Given the description of an element on the screen output the (x, y) to click on. 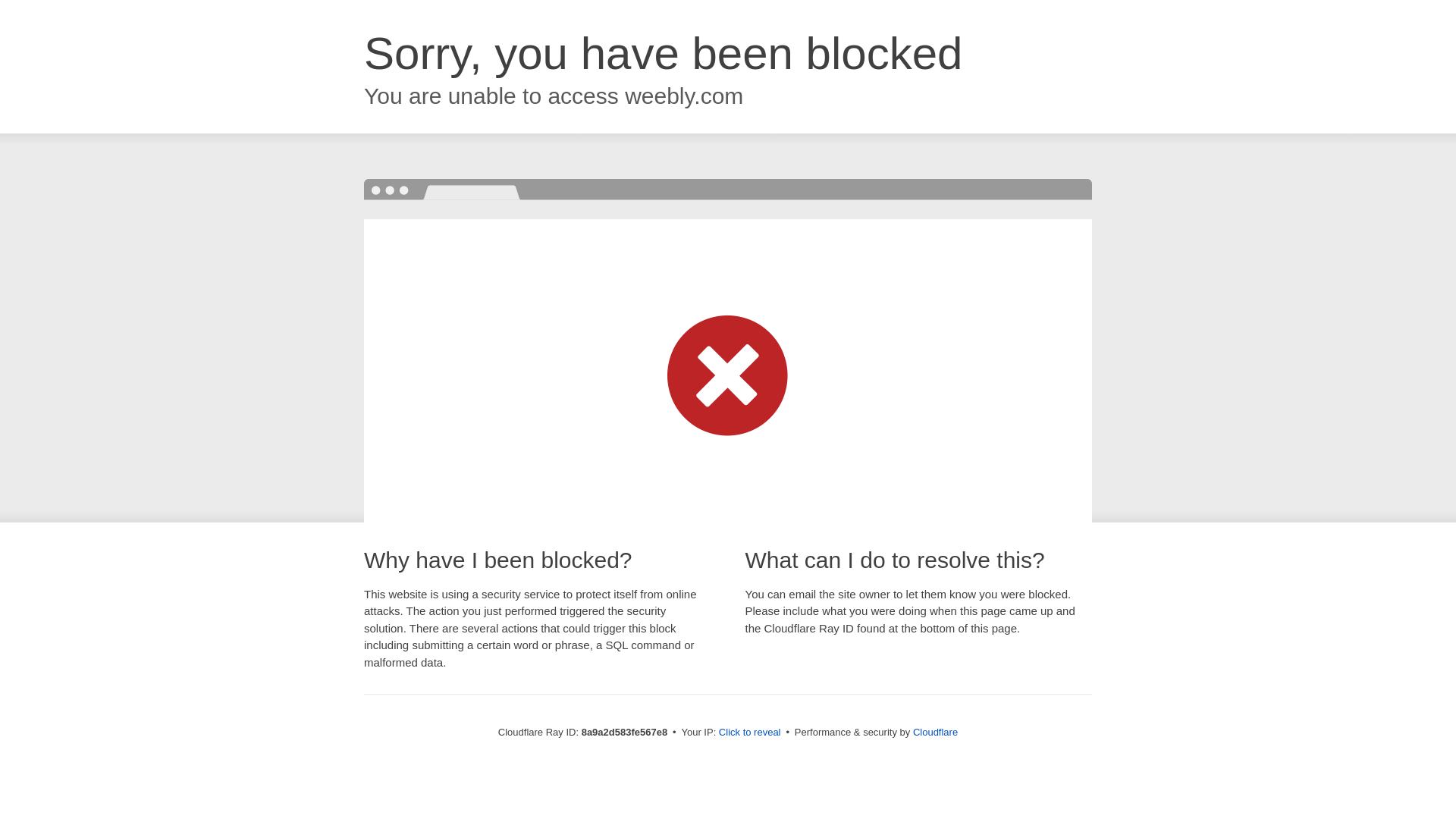
Cloudflare (935, 731)
Click to reveal (749, 732)
